Given the description of an element on the screen output the (x, y) to click on. 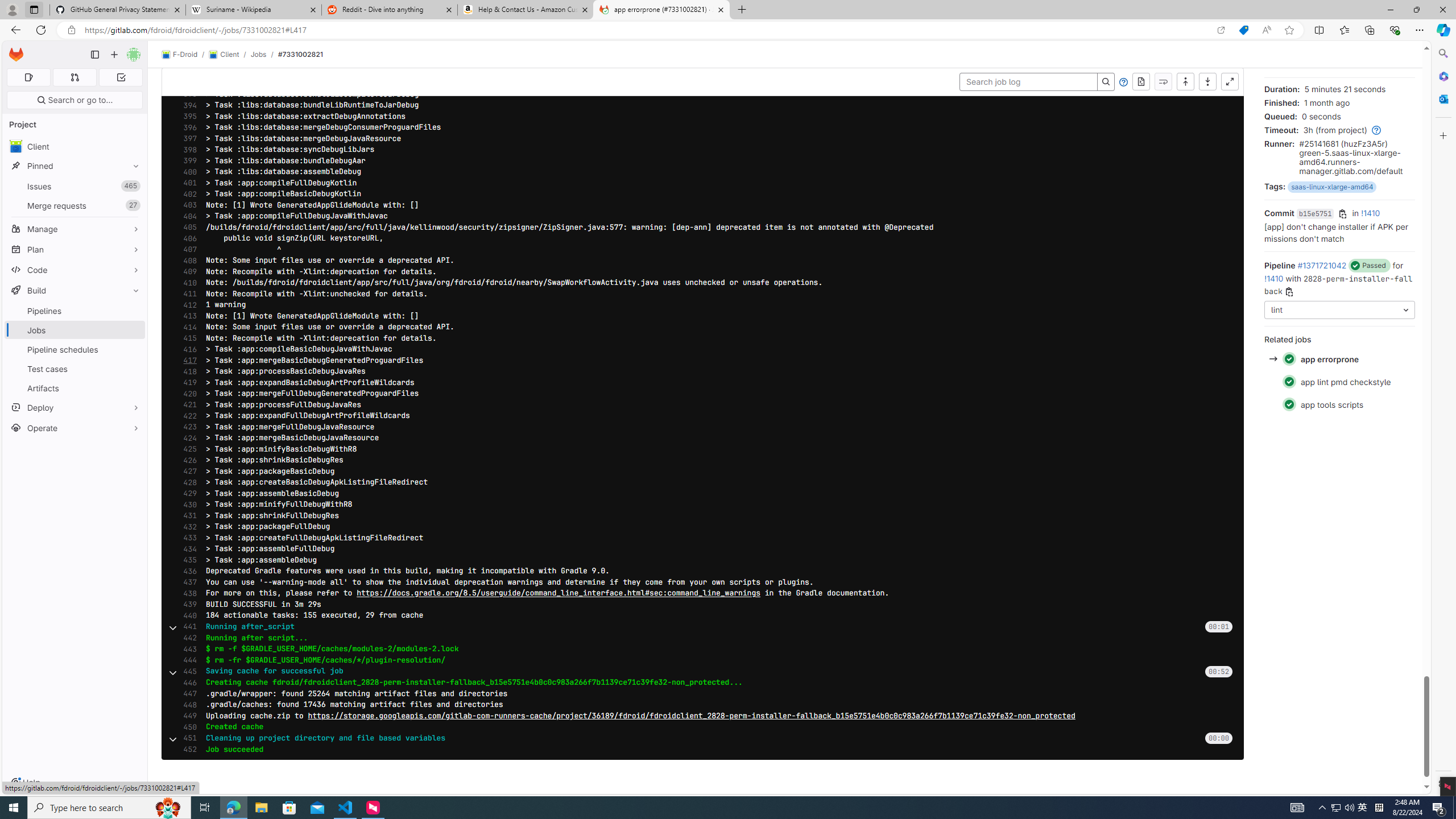
406 (186, 238)
451 (186, 737)
Manage (74, 228)
Artifacts (74, 387)
423 (186, 426)
398 (186, 149)
433 (186, 537)
414 (186, 327)
448 (186, 704)
Assigned issues 0 (28, 76)
447 (186, 693)
388 (186, 38)
